Given the description of an element on the screen output the (x, y) to click on. 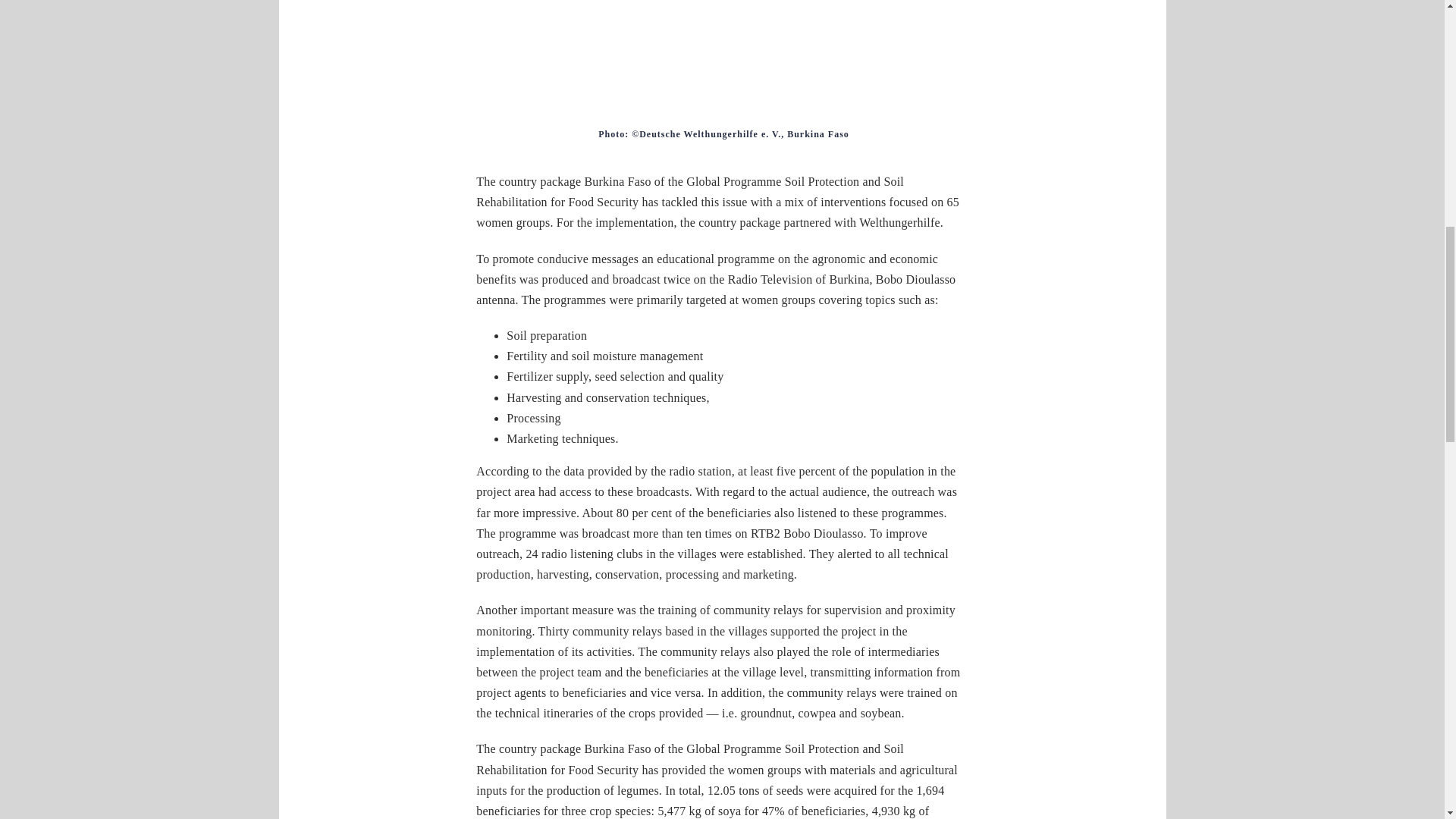
Page 2 (722, 133)
Bildschirmfoto 2021-05-04 um 15.38.55 (722, 63)
